Given the description of an element on the screen output the (x, y) to click on. 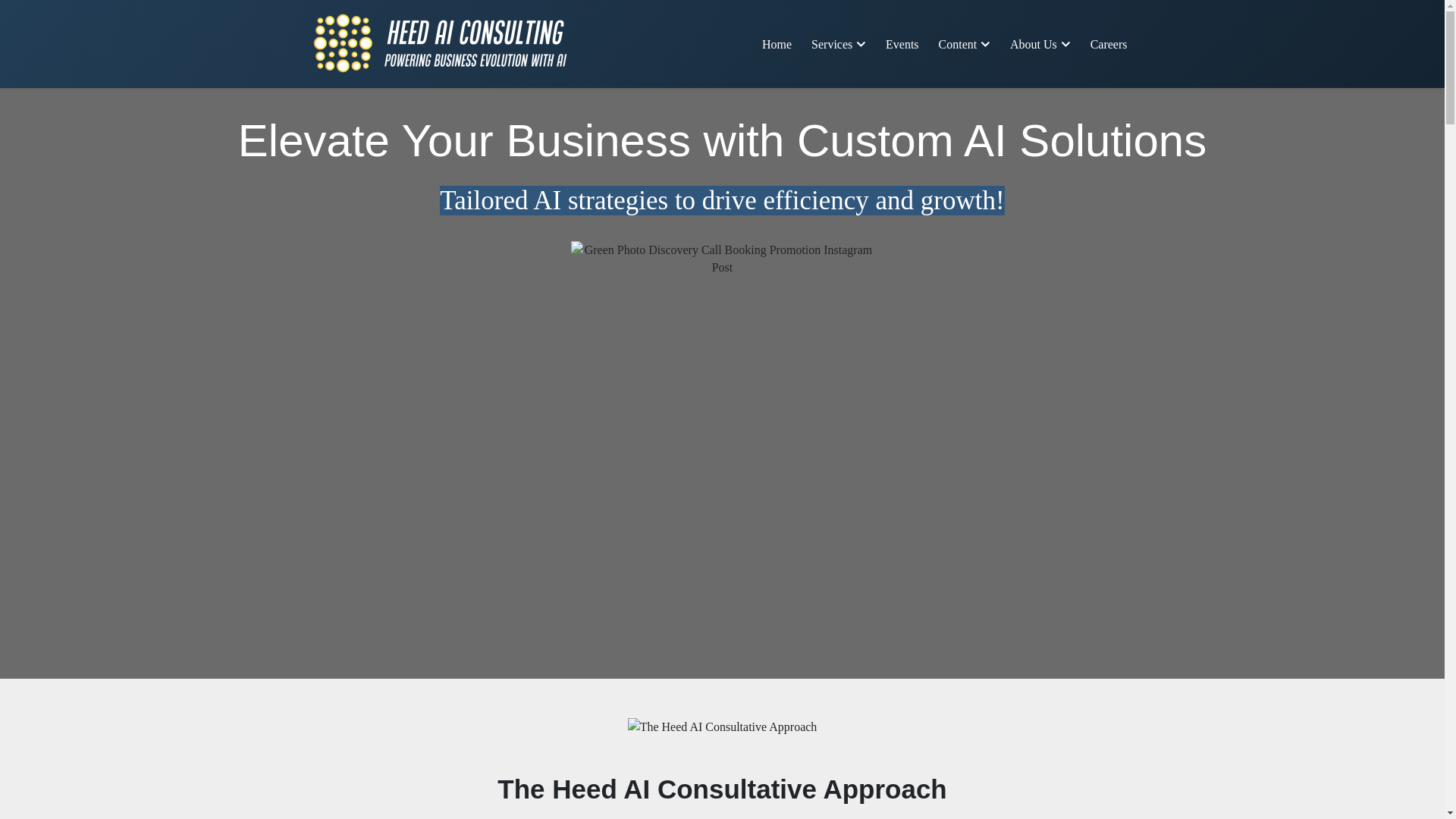
Home (776, 43)
Services (838, 43)
The Heed AI Consultative Approach (721, 726)
Content (964, 43)
Heed AI Consulting Los Angeles (440, 43)
About Us (1040, 43)
Events (902, 43)
Careers (1109, 43)
